Given the description of an element on the screen output the (x, y) to click on. 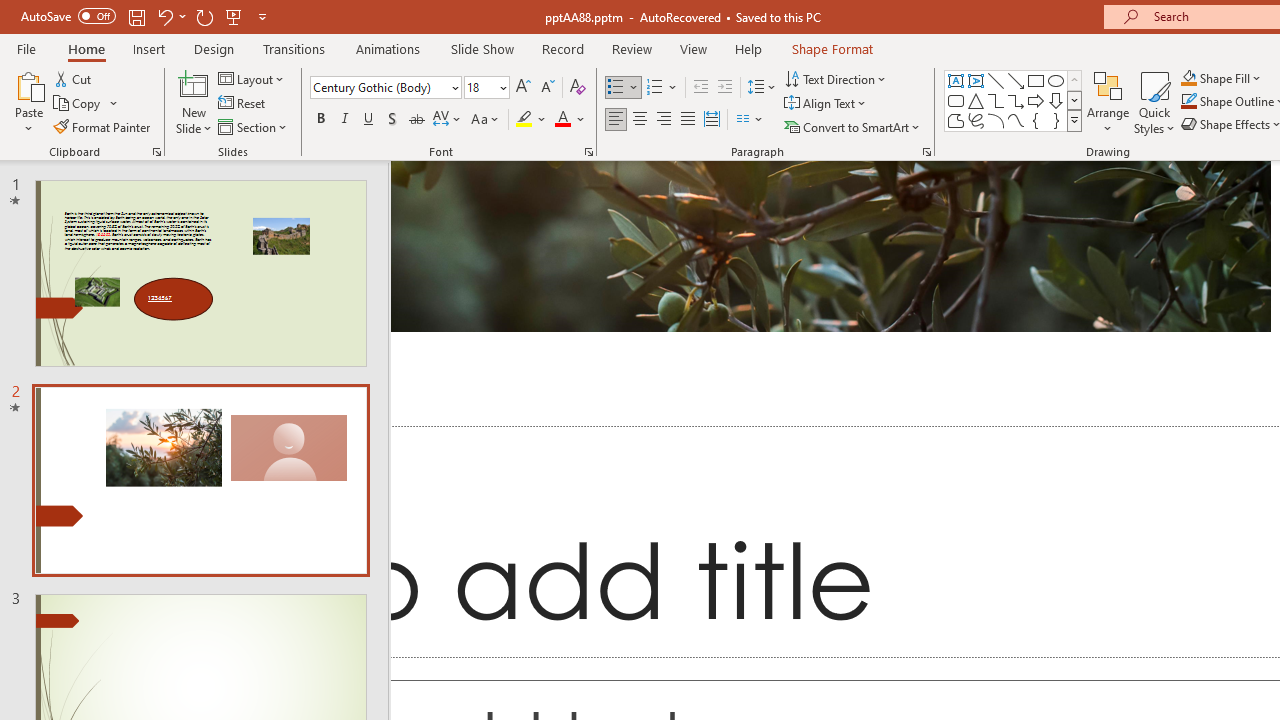
Row up (1074, 79)
Arc (995, 120)
Transitions (294, 48)
Rectangle (1035, 80)
Copy (85, 103)
Distributed (712, 119)
Underline (369, 119)
Paste (28, 102)
Arrow: Down (1055, 100)
Increase Font Size (522, 87)
Right Brace (1055, 120)
More Options (1232, 78)
Oval (1055, 80)
Text Highlight Color Yellow (524, 119)
AutoSave (68, 16)
